Given the description of an element on the screen output the (x, y) to click on. 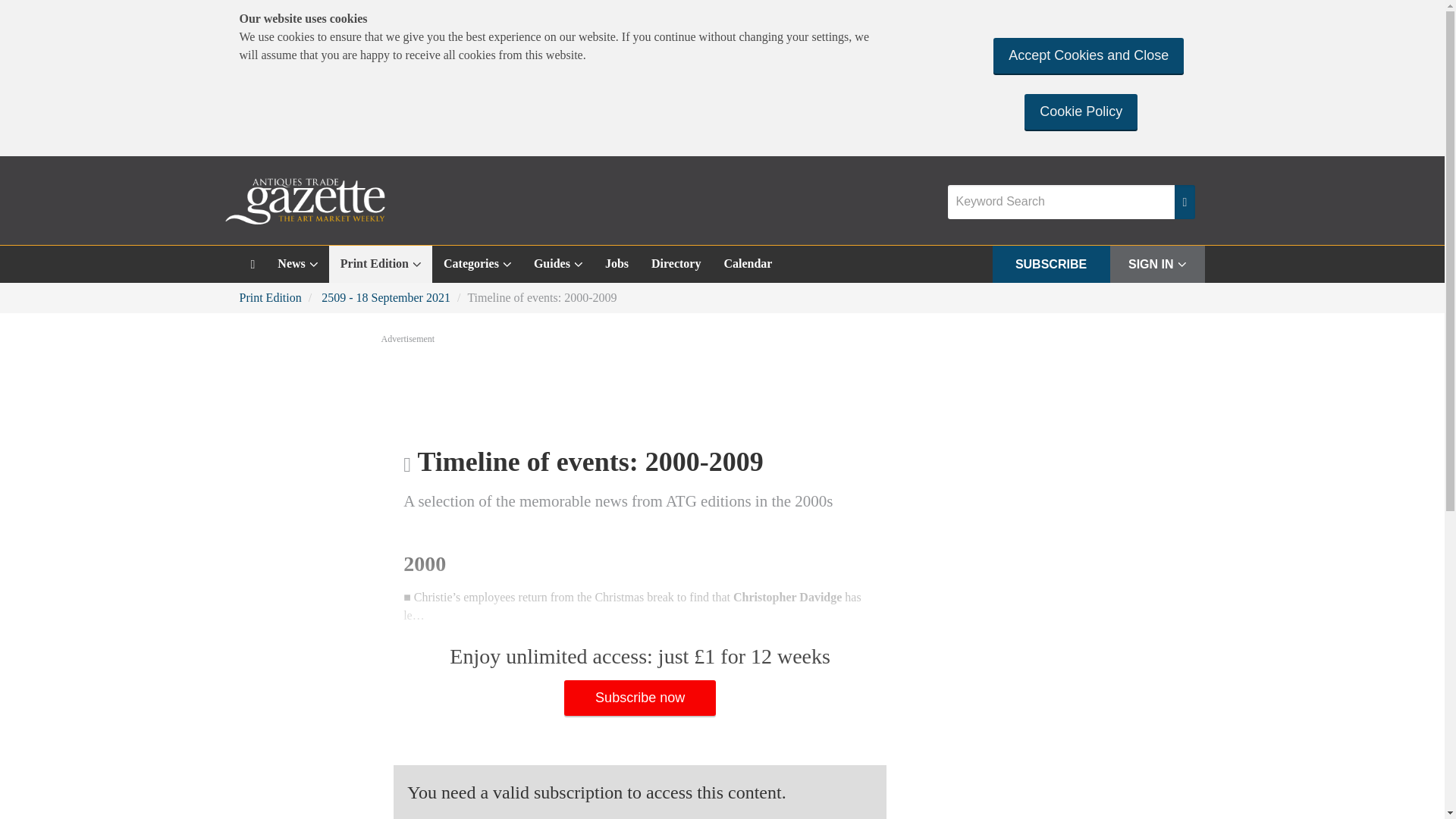
3rd party ad content (721, 387)
Keyword Search (1060, 202)
Cookie Policy (1081, 111)
News (297, 263)
